Given the description of an element on the screen output the (x, y) to click on. 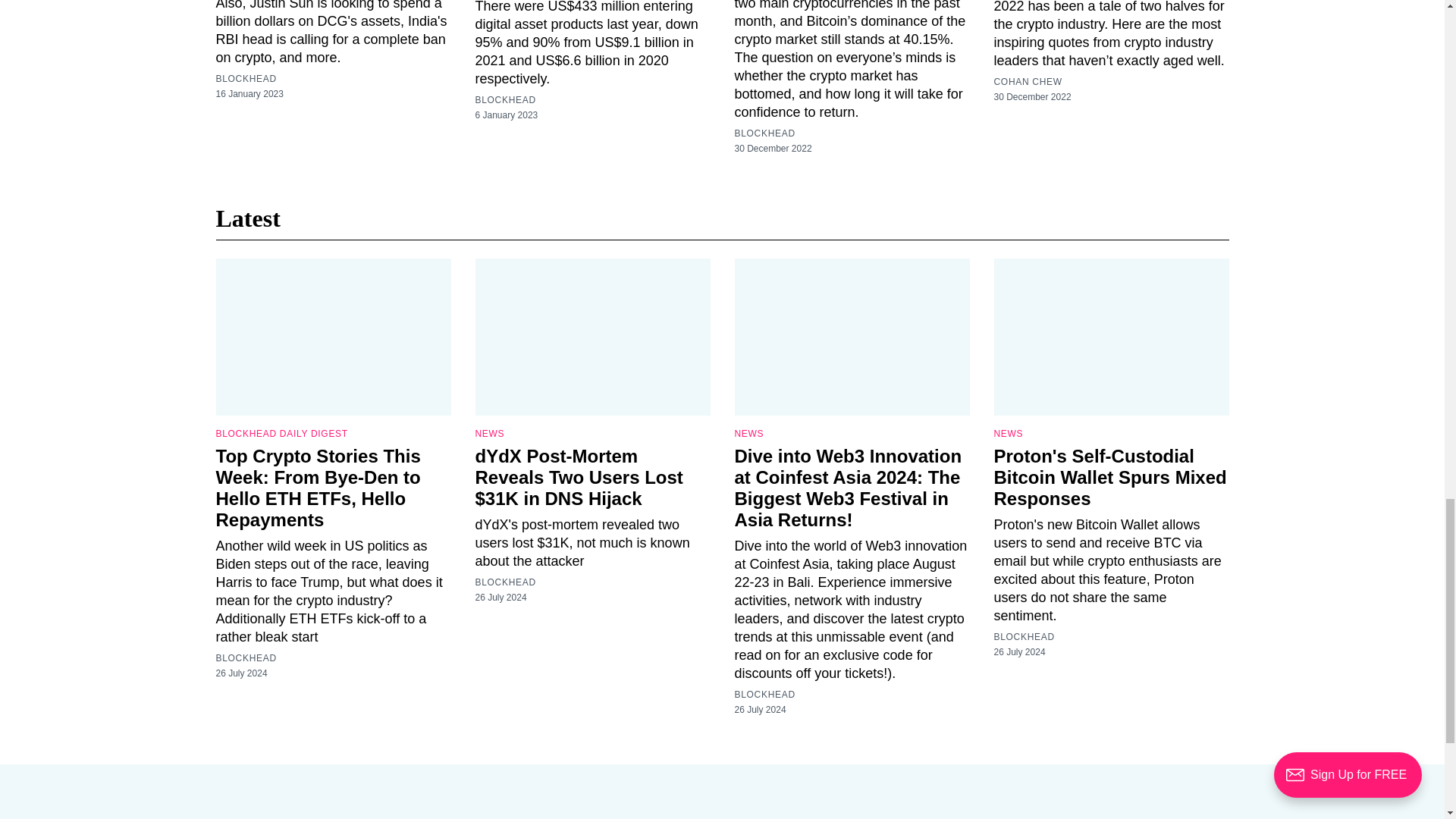
BLOCKHEAD (245, 78)
BLOCKHEAD (504, 100)
BLOCKHEAD (763, 133)
